Given the description of an element on the screen output the (x, y) to click on. 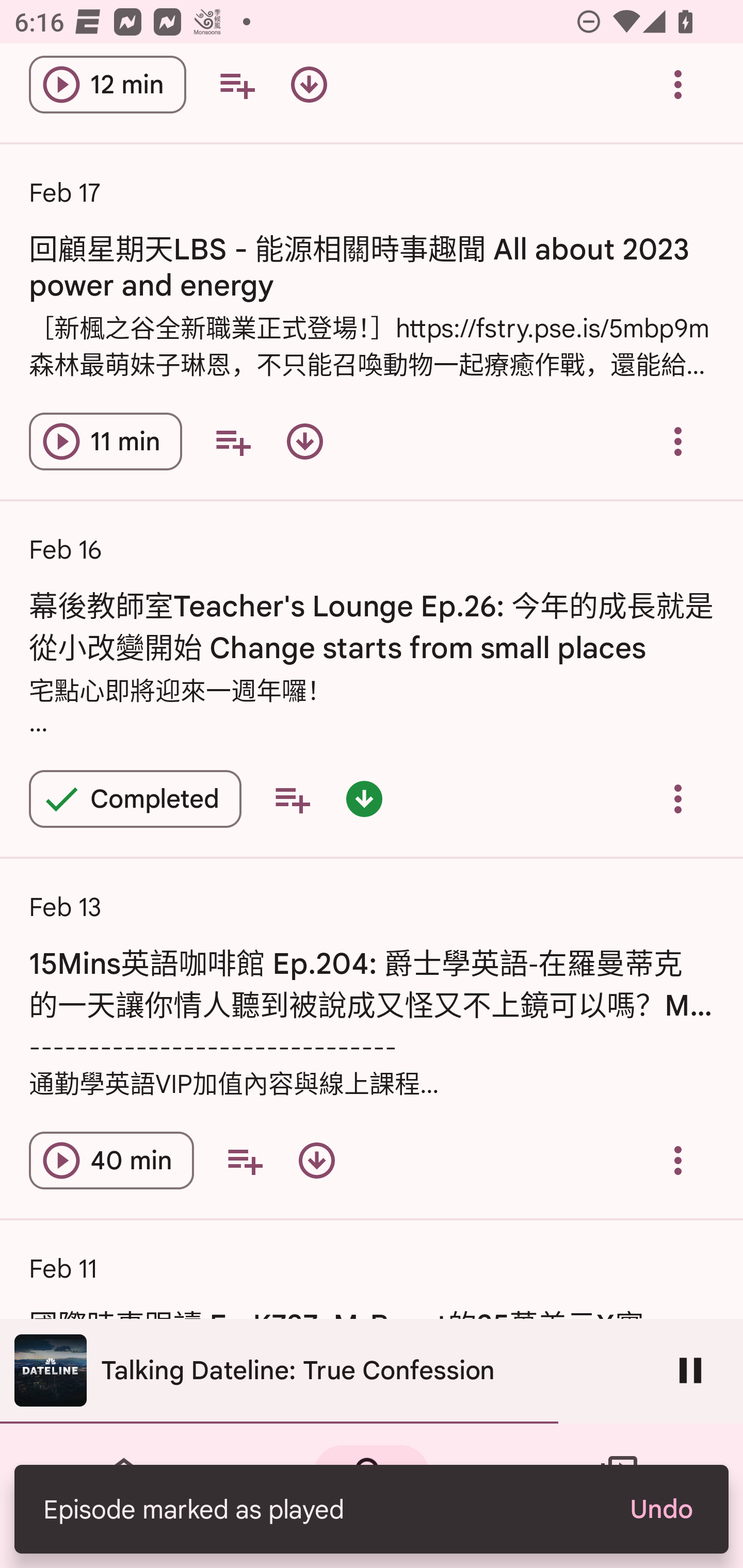
Add to your queue (236, 85)
Download episode (308, 85)
Overflow menu (677, 85)
Add to your queue (232, 441)
Download episode (304, 441)
Overflow menu (677, 441)
Add to your queue (291, 798)
Episode downloaded - double tap for options (364, 798)
Overflow menu (677, 798)
Add to your queue (244, 1160)
Download episode (316, 1160)
Overflow menu (677, 1160)
Pause (690, 1370)
Undo (660, 1509)
